Given the description of an element on the screen output the (x, y) to click on. 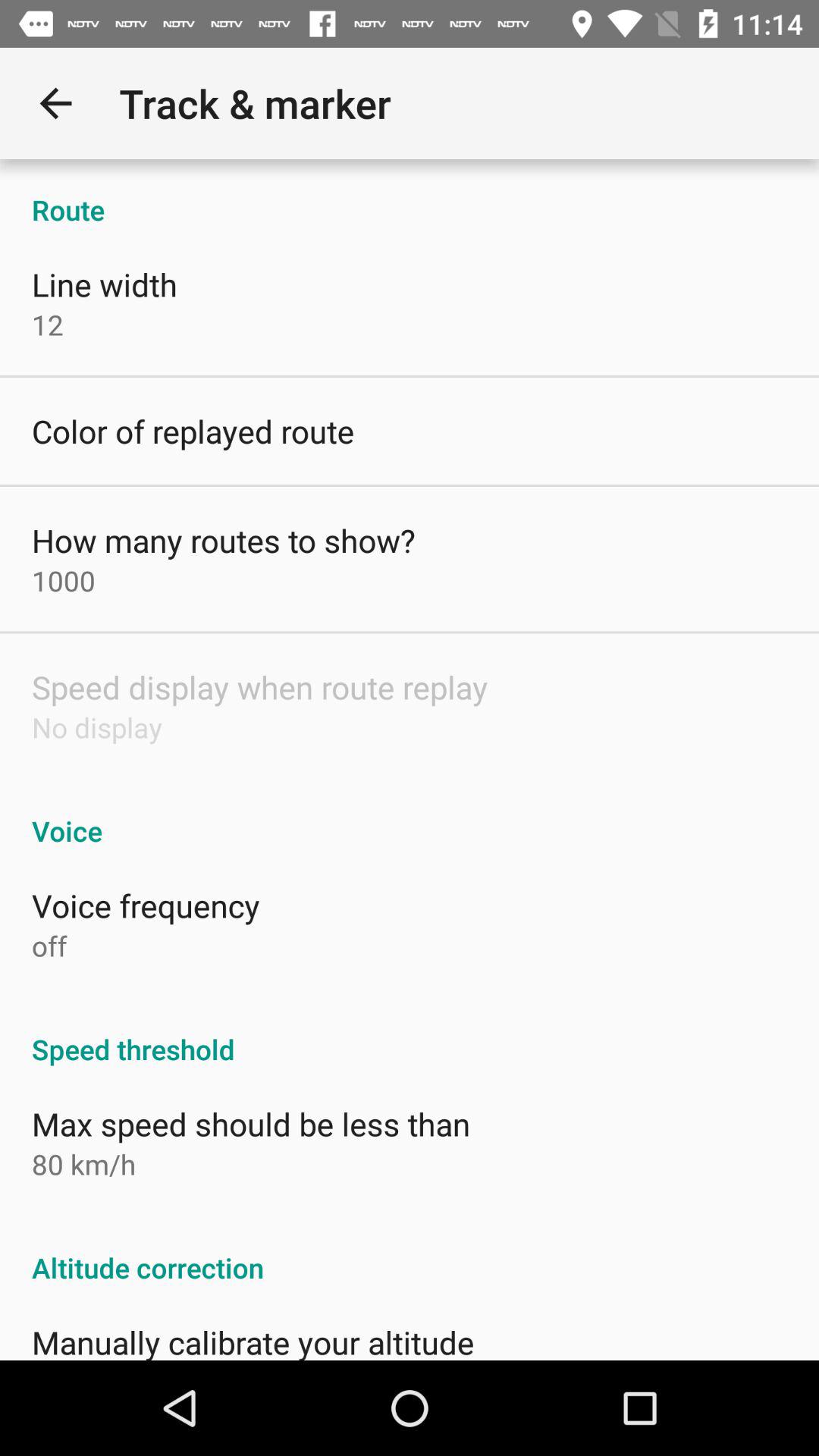
click the item above the no display item (259, 686)
